Given the description of an element on the screen output the (x, y) to click on. 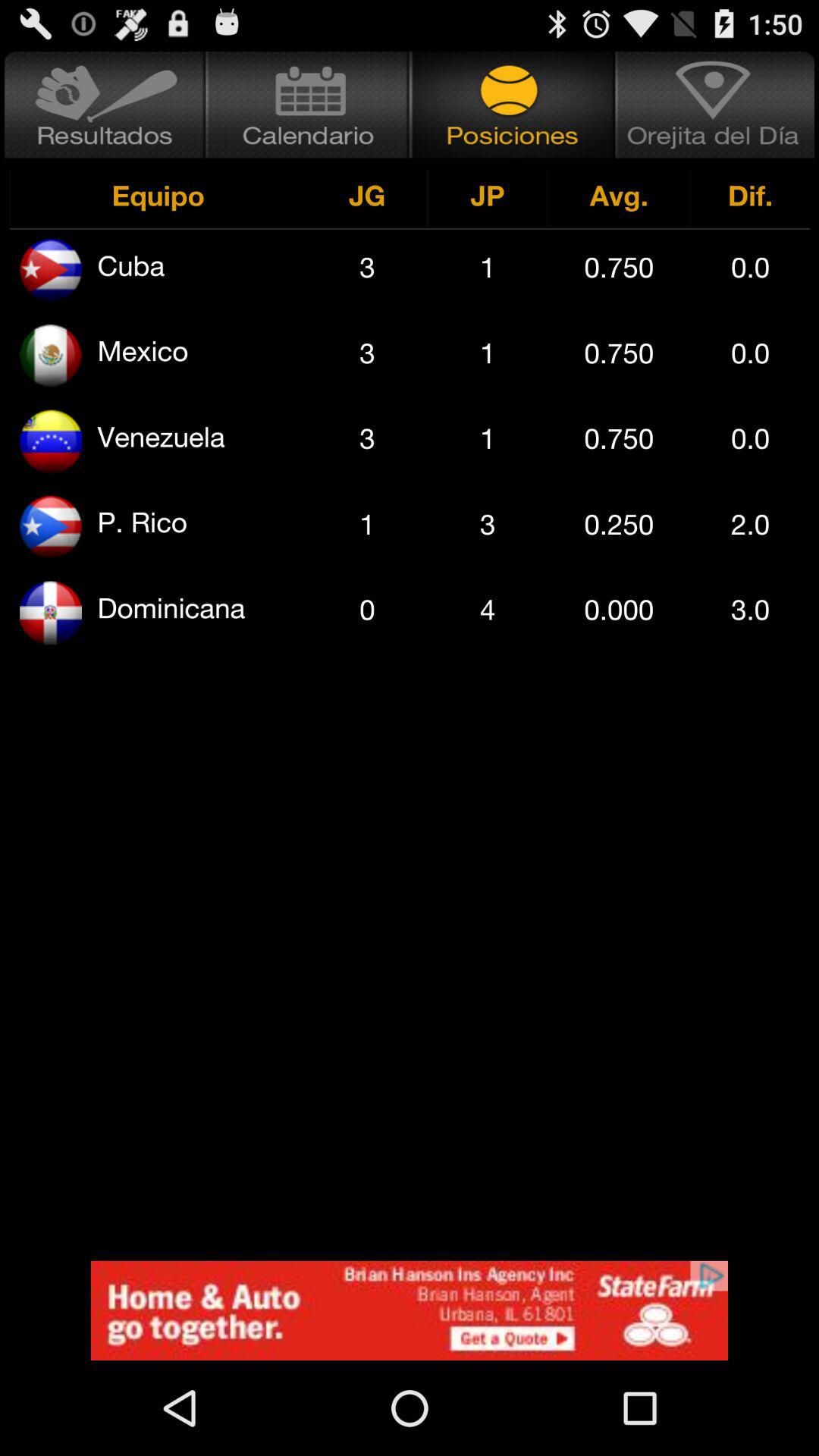
view positions (512, 104)
